Given the description of an element on the screen output the (x, y) to click on. 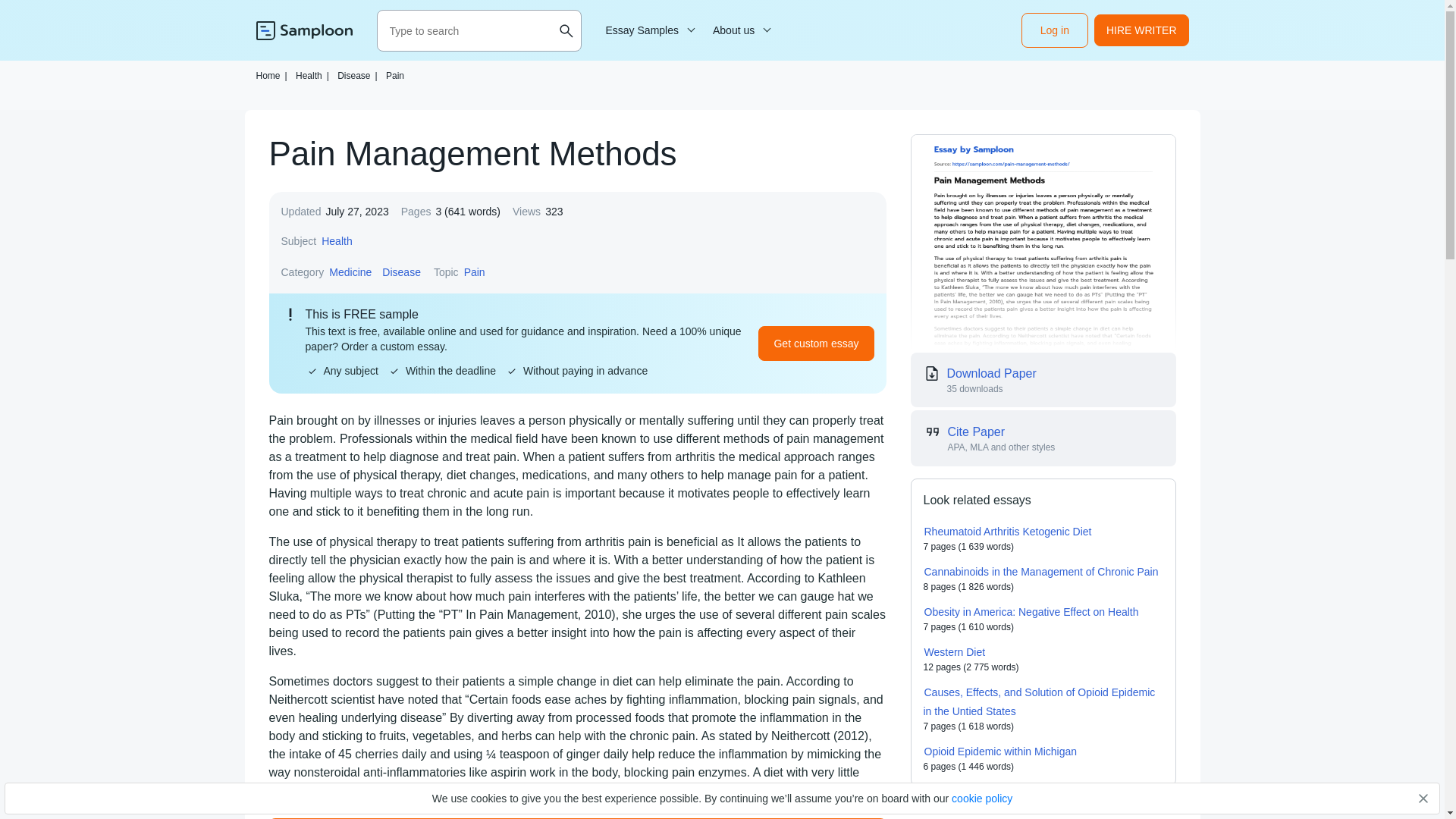
Health (336, 241)
Essay Samples (647, 30)
Pain (394, 75)
Pain (474, 272)
Medicine (350, 272)
Disease (401, 272)
About us (739, 30)
